Given the description of an element on the screen output the (x, y) to click on. 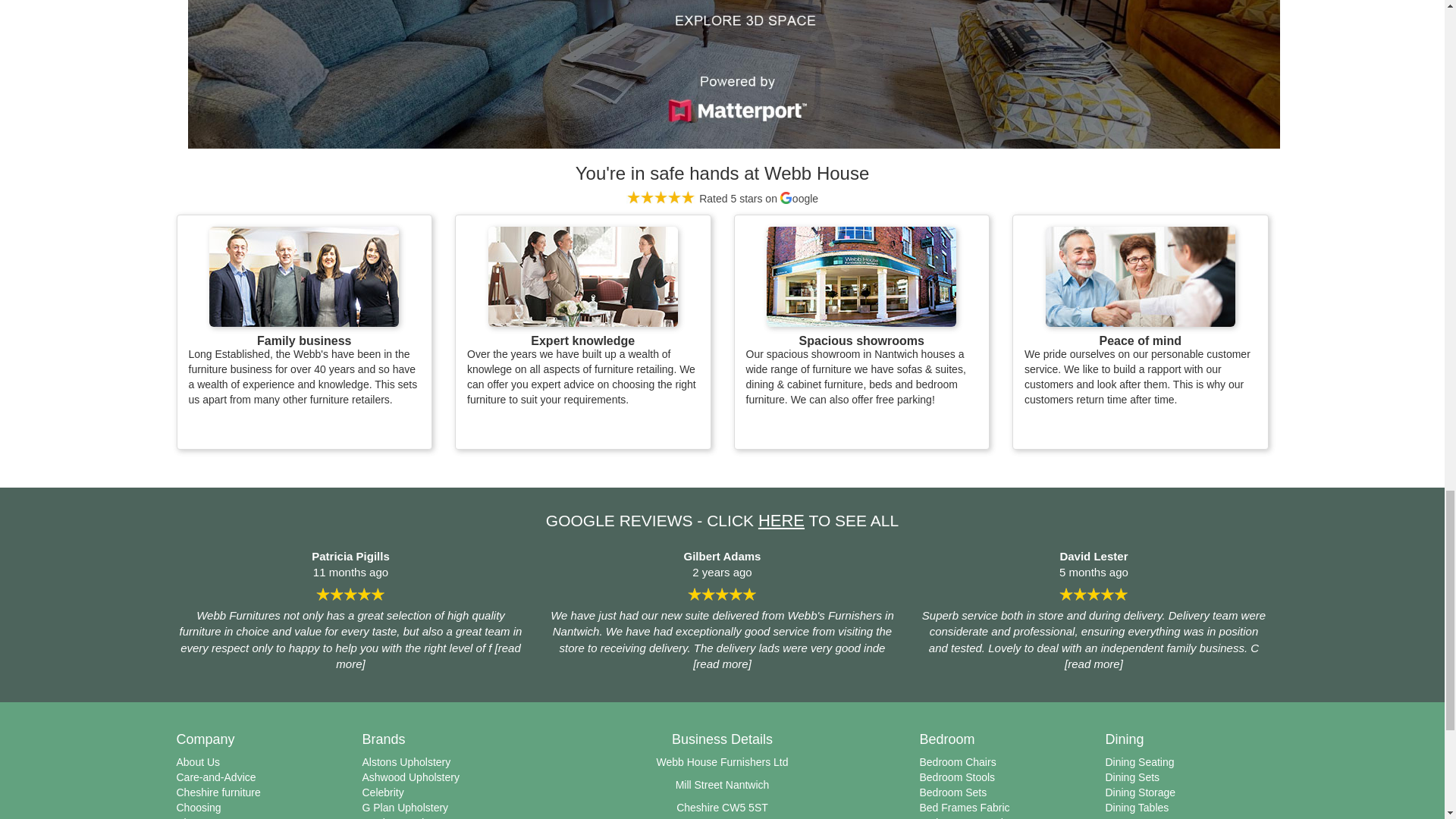
After sales service (1139, 276)
Knowledgeable staff (582, 276)
Click to read our reviews on Google. (781, 520)
Front of shop (861, 276)
Howard and Joan (303, 276)
Click to read our reviews on Google. (722, 198)
